Given the description of an element on the screen output the (x, y) to click on. 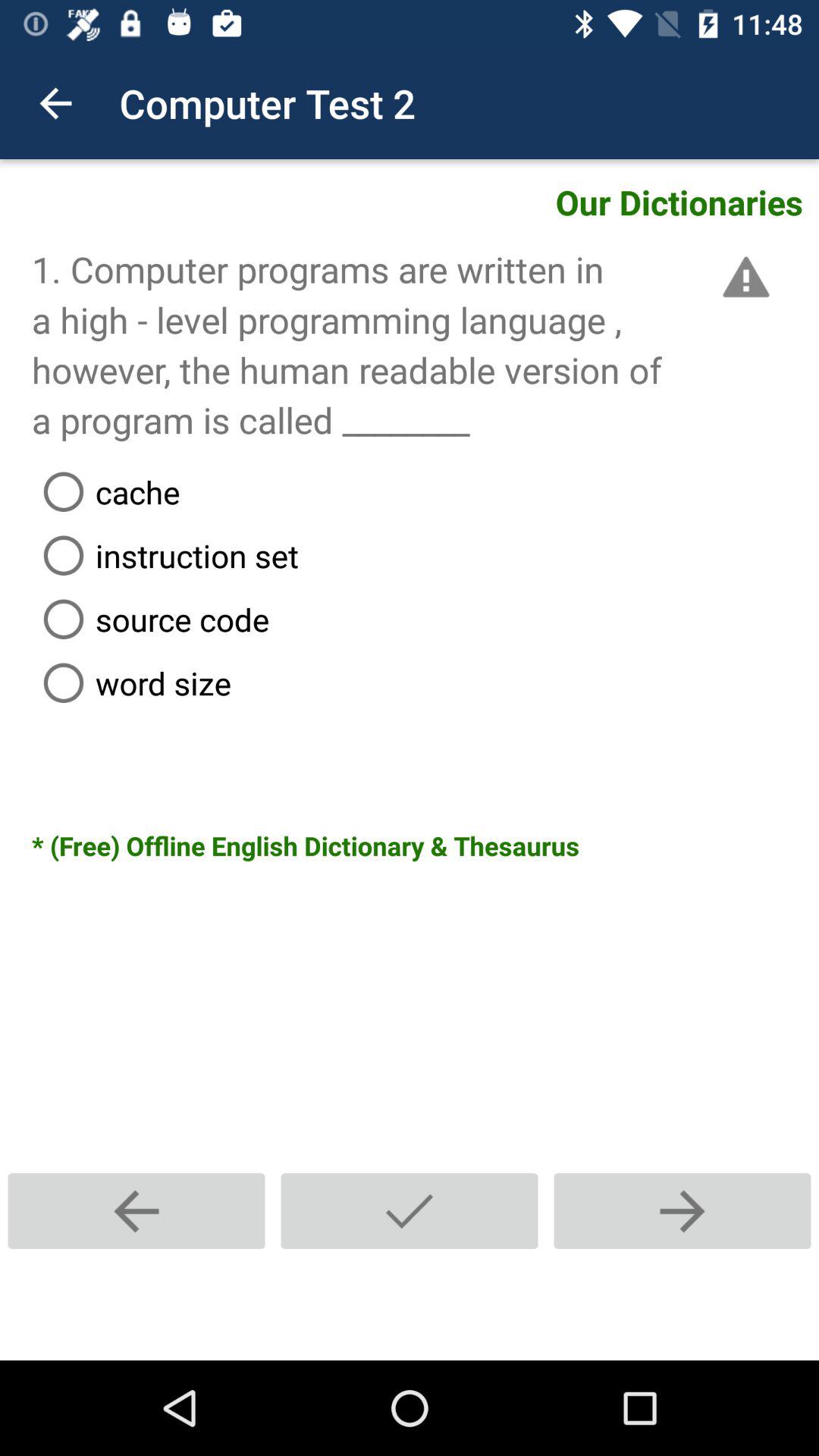
launch the item above the cache icon (743, 276)
